Given the description of an element on the screen output the (x, y) to click on. 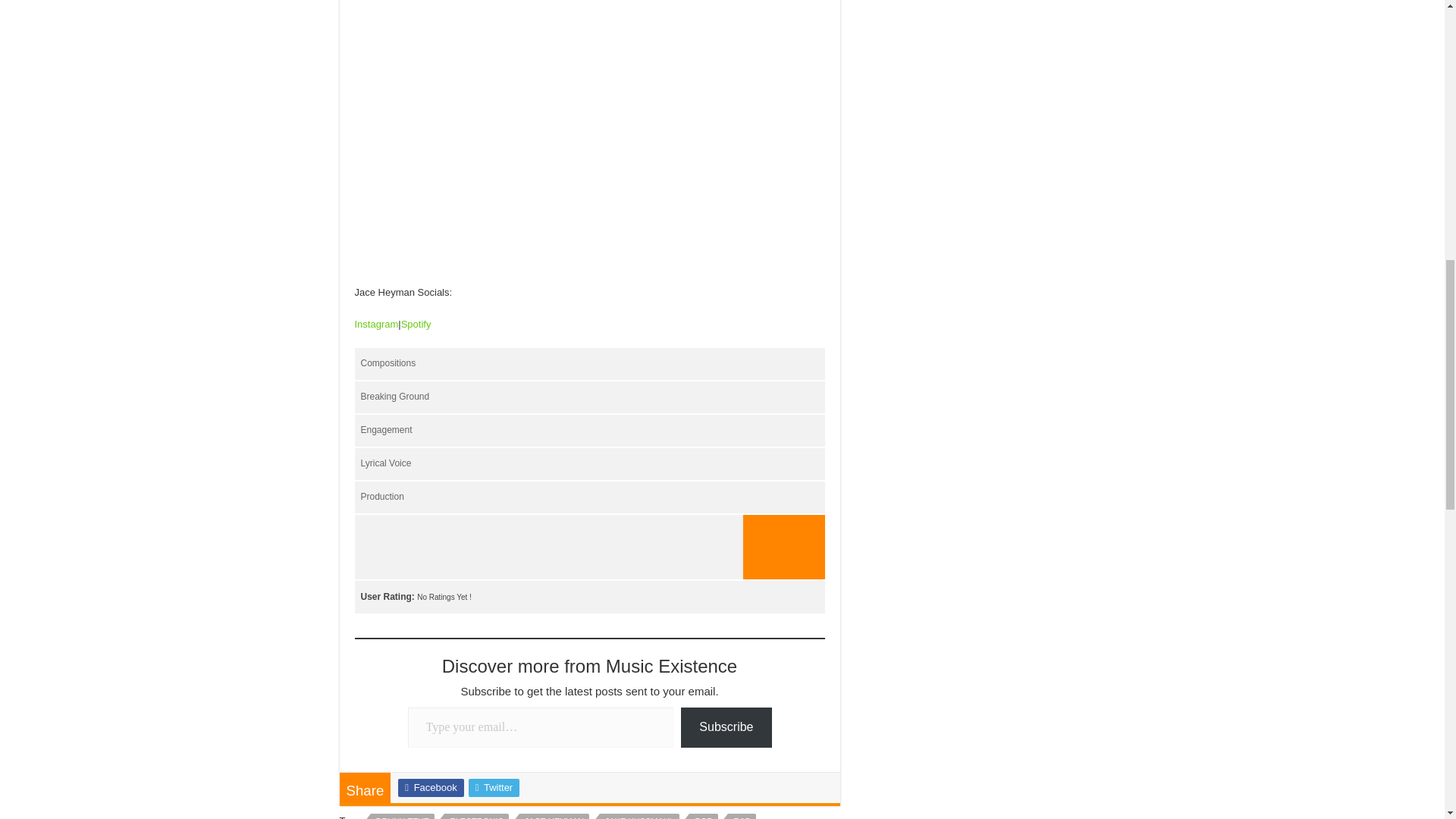
JACE HEYMAN (554, 816)
ELECTRONIC (476, 816)
DRUNK TEXT (402, 816)
Subscribe (726, 727)
Twitter (493, 787)
Spotify (415, 324)
Facebook (430, 787)
POP (702, 816)
JAKE KUSSMAUL (639, 816)
Instagram (376, 324)
